Given the description of an element on the screen output the (x, y) to click on. 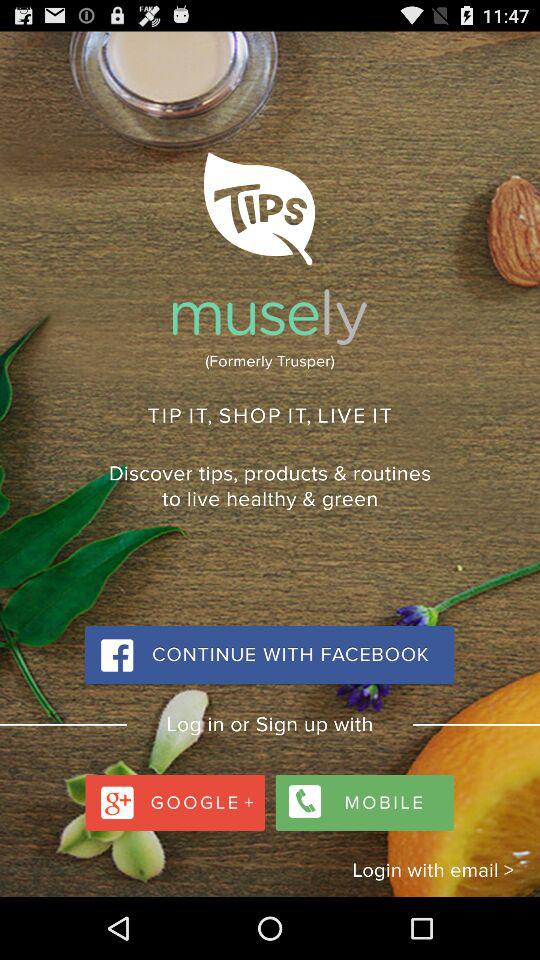
continue with facebook (269, 655)
